Given the description of an element on the screen output the (x, y) to click on. 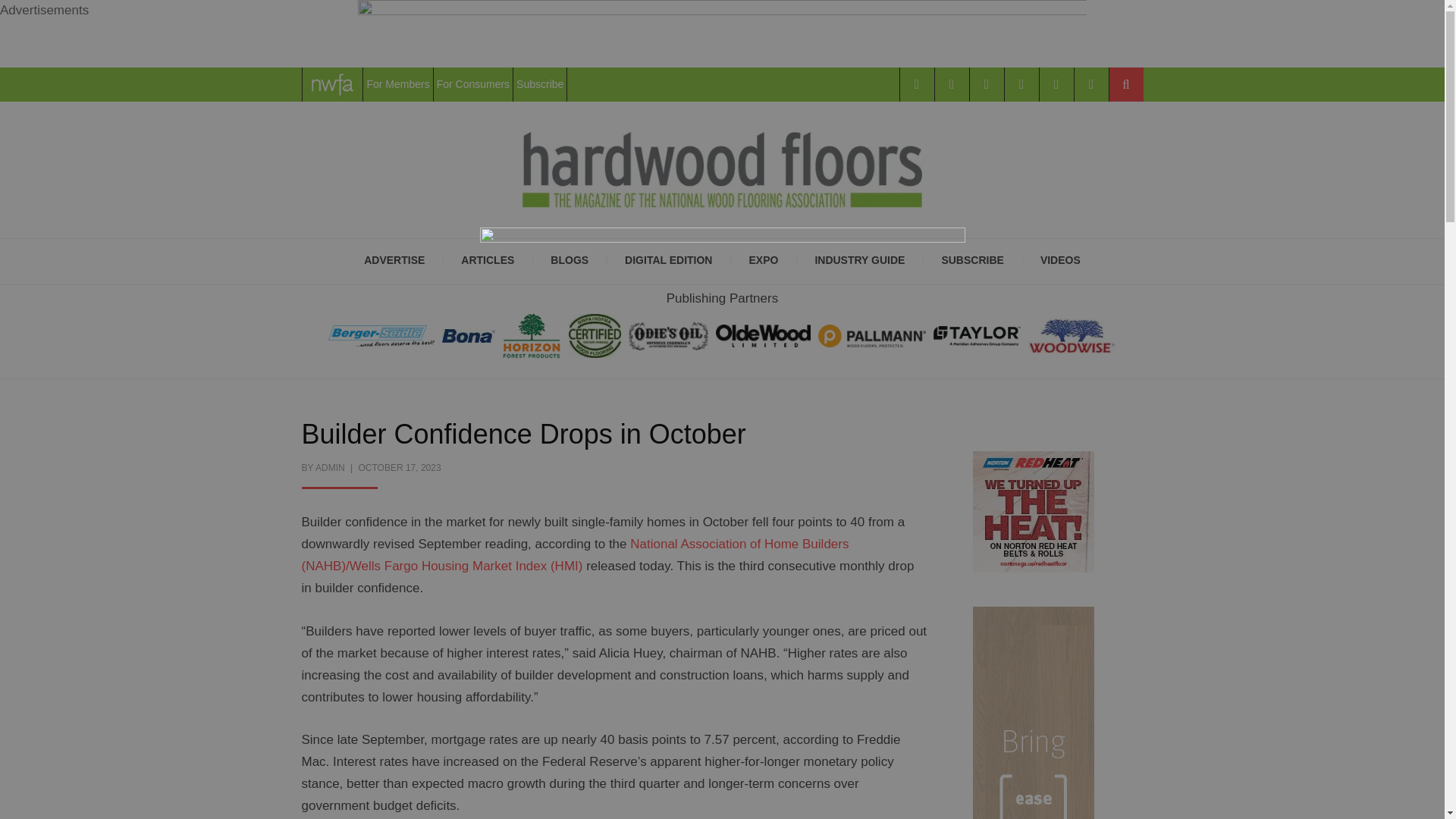
ADVERTISE (394, 261)
Pinterest (1091, 84)
Follow me on Facebook (916, 84)
Subscribe (539, 84)
For Members (397, 84)
Hardwood Floors Magazine (888, 313)
HARDWOOD FLOORS MAGAZINE (888, 313)
Search (1125, 84)
YouTube (1056, 84)
ARTICLES (487, 261)
National Wood Flooring Association (331, 84)
LinkedIn (1021, 84)
Search (1125, 84)
For Consumers (472, 84)
Follow me on Instagram (986, 84)
